Given the description of an element on the screen output the (x, y) to click on. 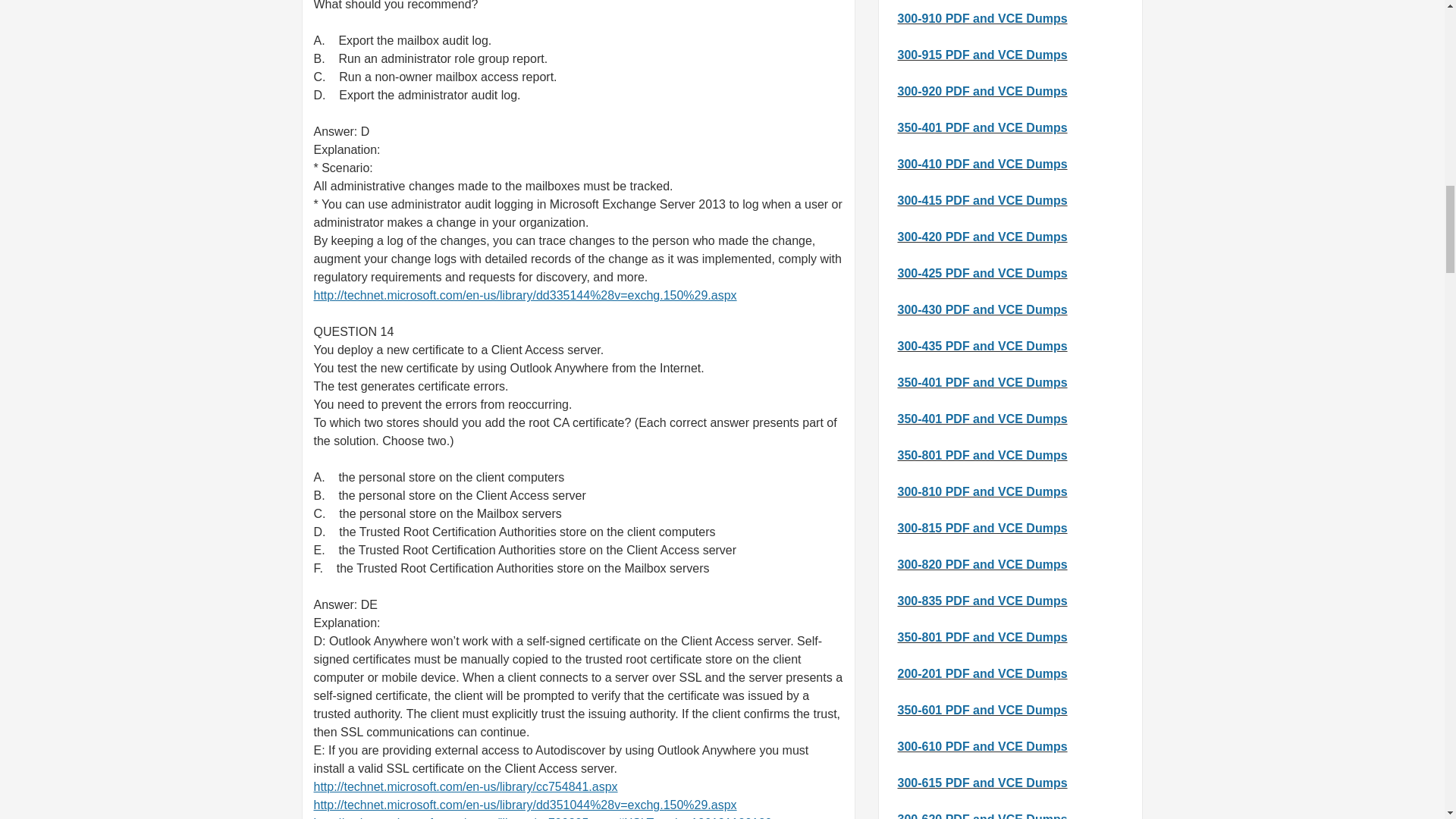
300-910 PDF and VCE Dumps (982, 18)
